Given the description of an element on the screen output the (x, y) to click on. 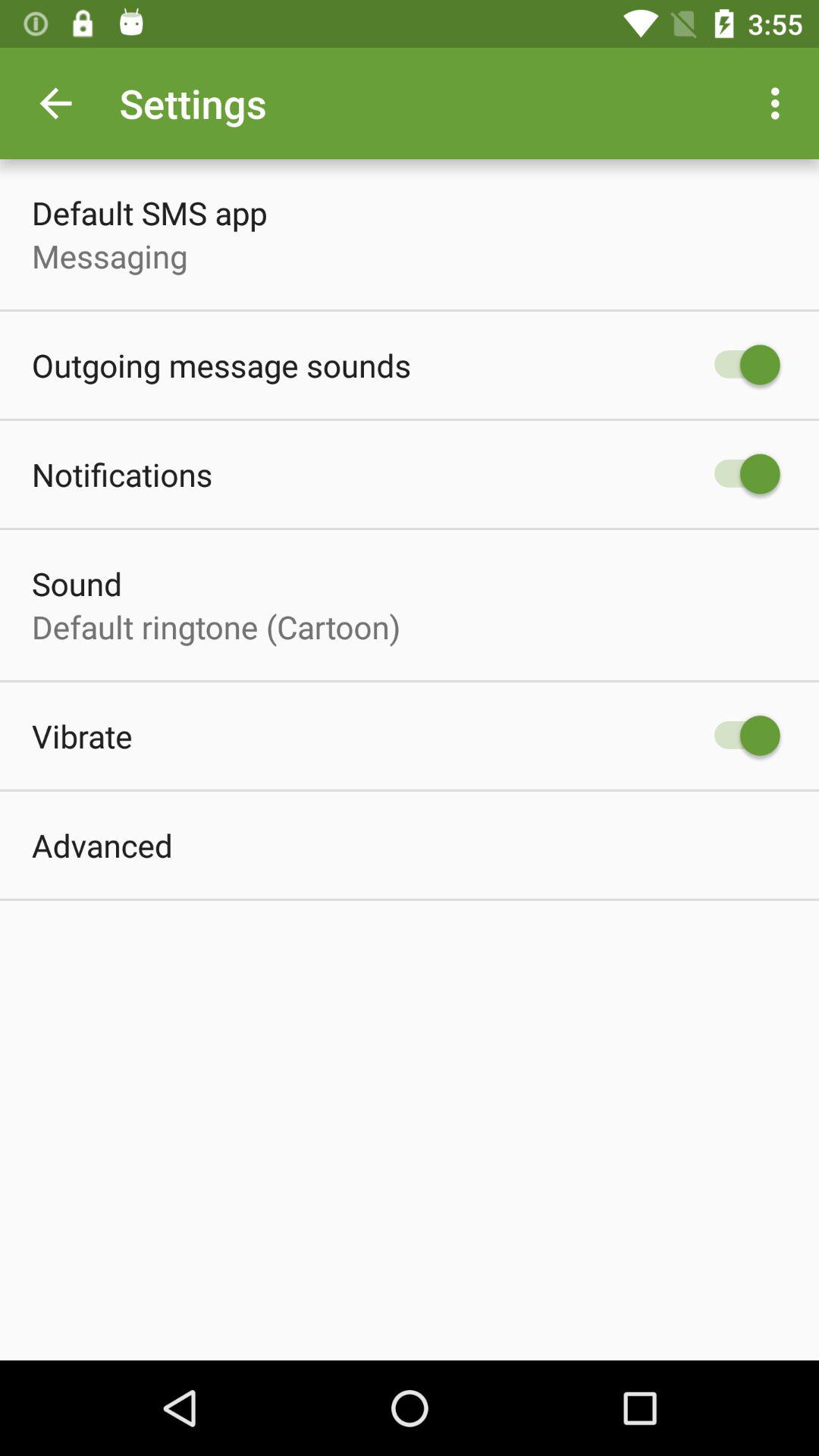
jump to advanced item (101, 844)
